Given the description of an element on the screen output the (x, y) to click on. 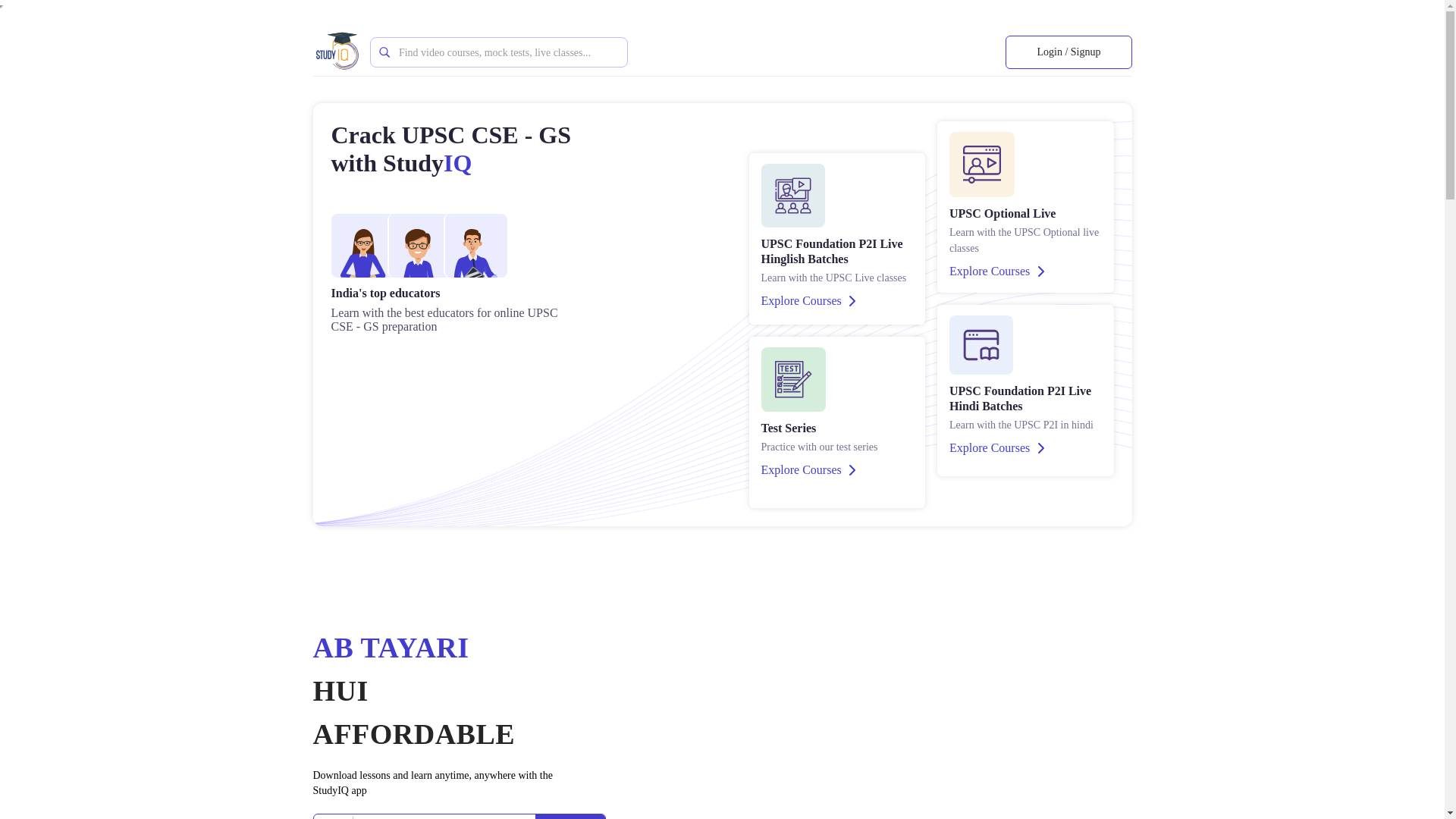
Explore Courses (808, 300)
Explore Courses (996, 271)
Explore Courses (808, 469)
Get Link (570, 816)
Explore Courses (996, 447)
